Given the description of an element on the screen output the (x, y) to click on. 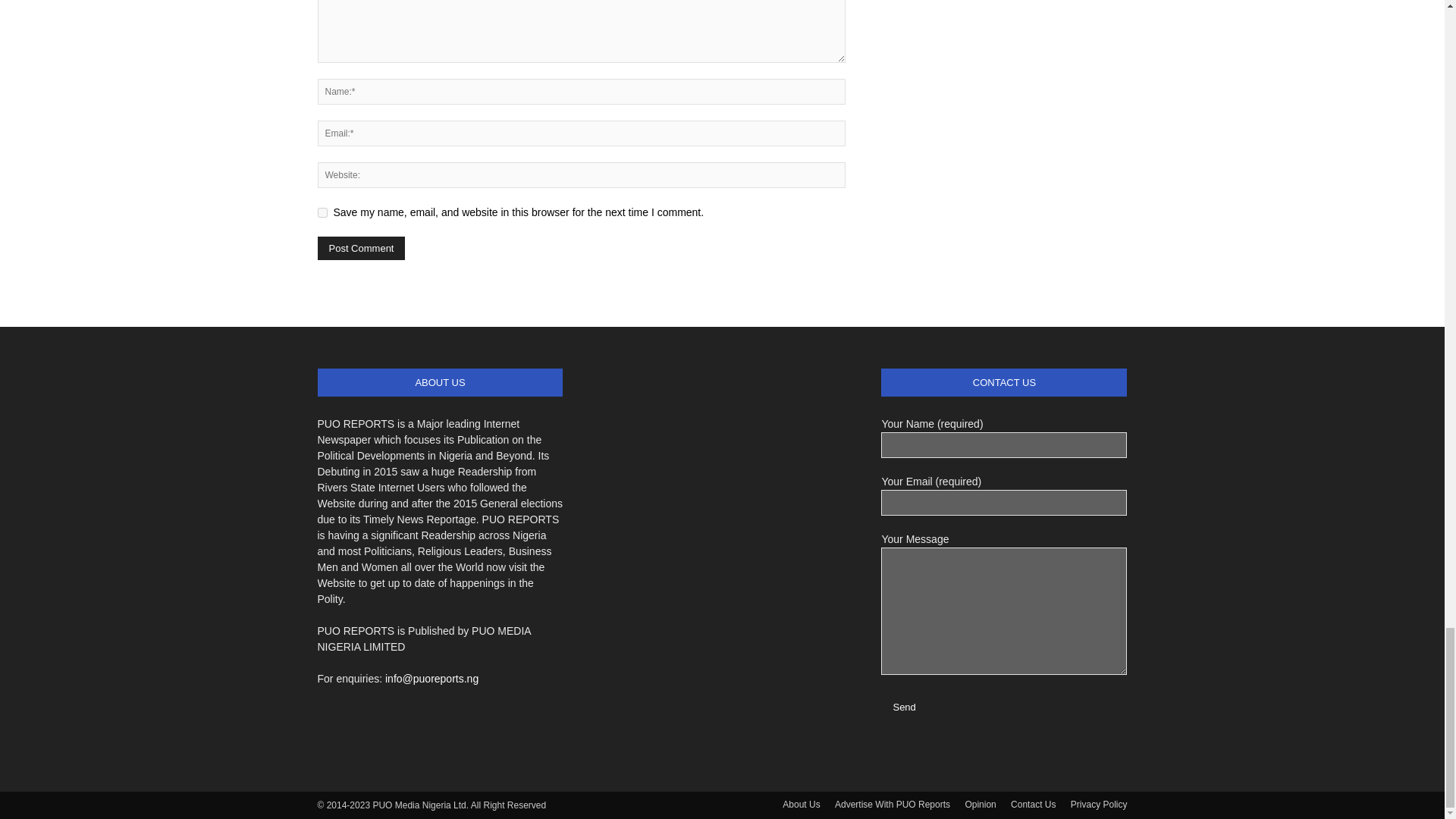
Send (903, 707)
yes (321, 212)
Post Comment (360, 248)
